Given the description of an element on the screen output the (x, y) to click on. 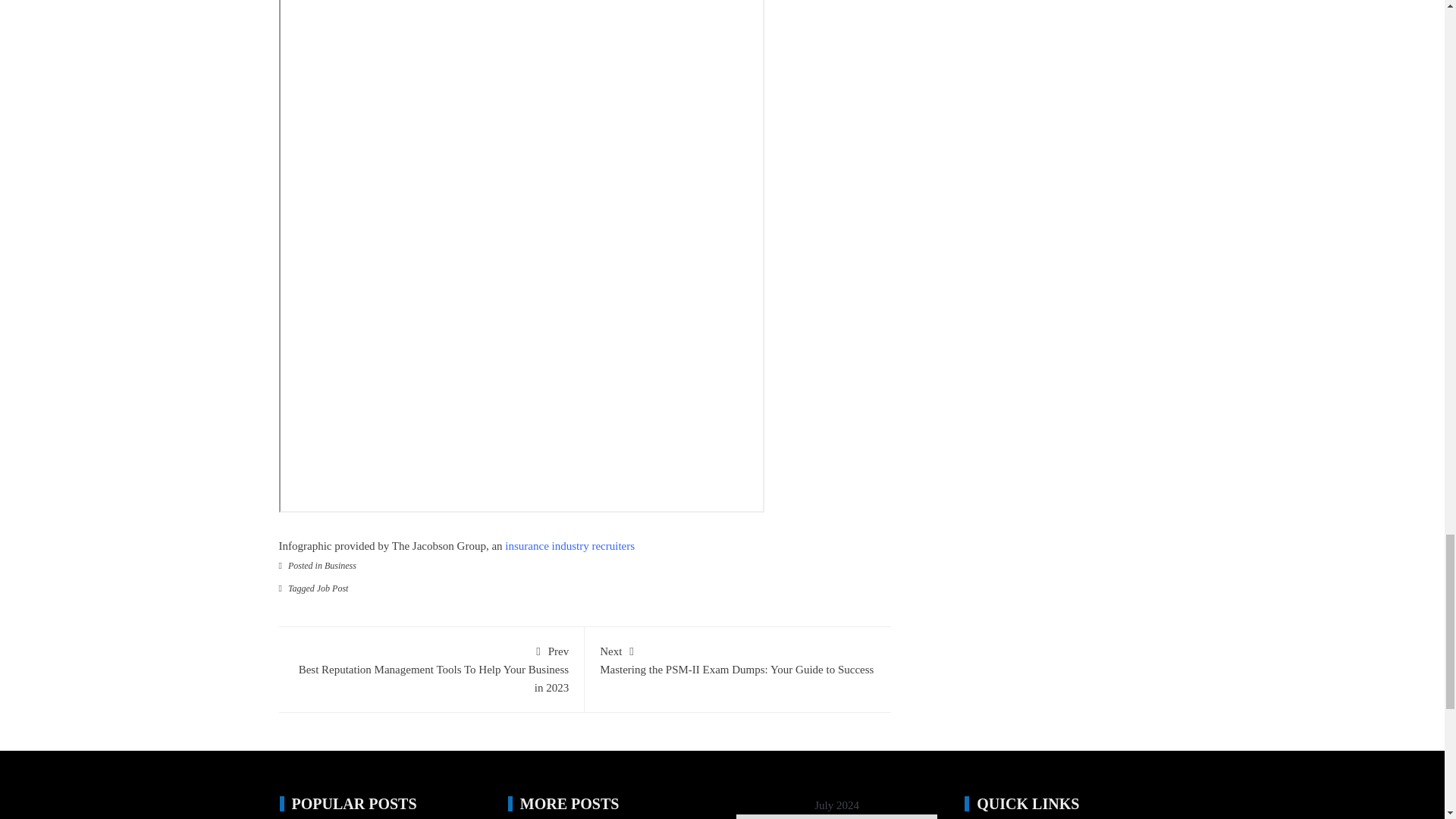
Thursday (836, 816)
Tuesday (779, 816)
Friday (864, 816)
Saturday (893, 816)
Monday (750, 816)
Wednesday (807, 816)
Sunday (922, 816)
